Given the description of an element on the screen output the (x, y) to click on. 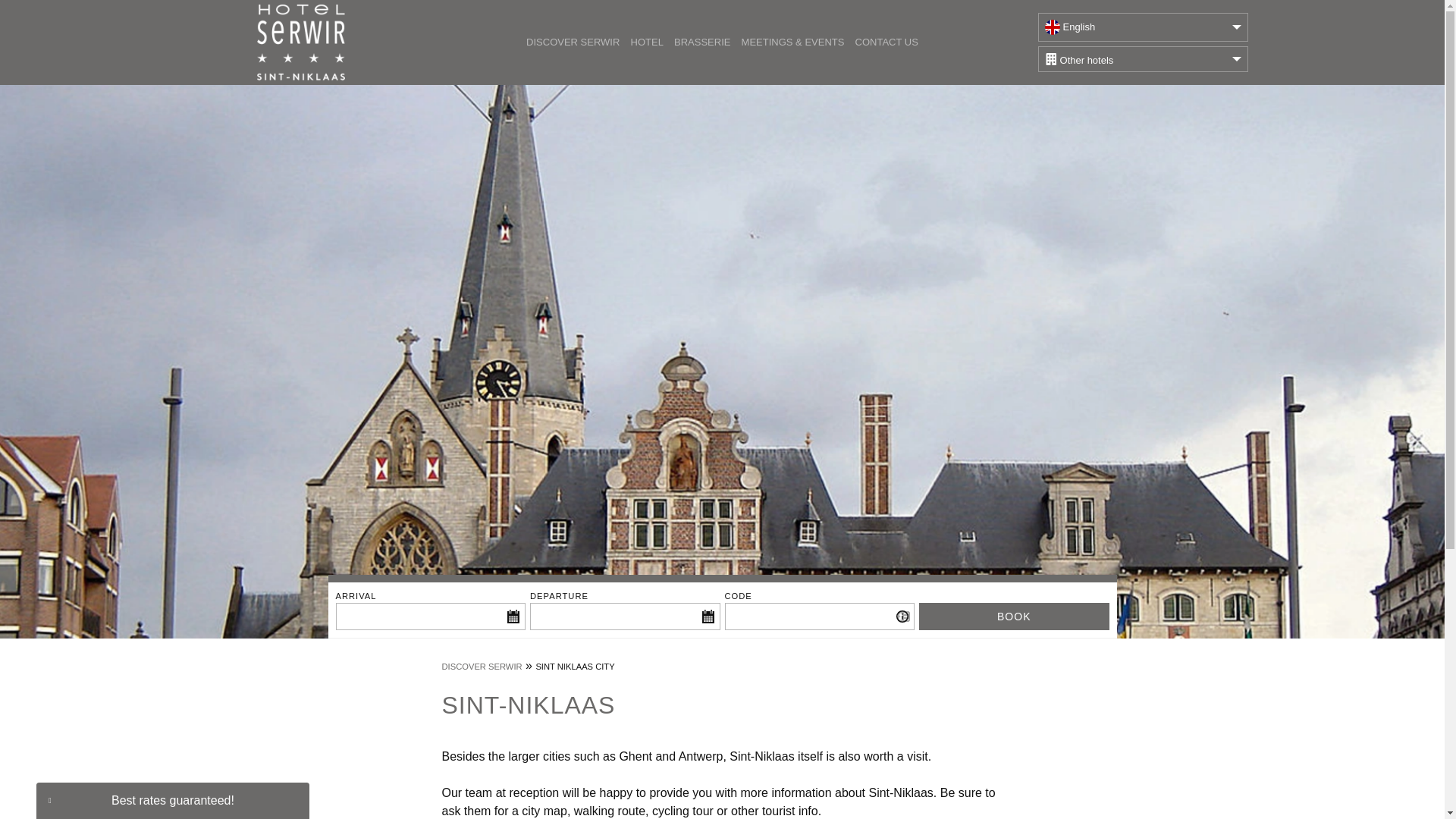
HOTEL (646, 42)
BRASSERIE (702, 42)
DISCOVER SERWIR (573, 42)
CONTACT US (885, 42)
Best rates guaranteed! (172, 800)
Book (1013, 615)
DISCOVER SERWIR (481, 666)
